Given the description of an element on the screen output the (x, y) to click on. 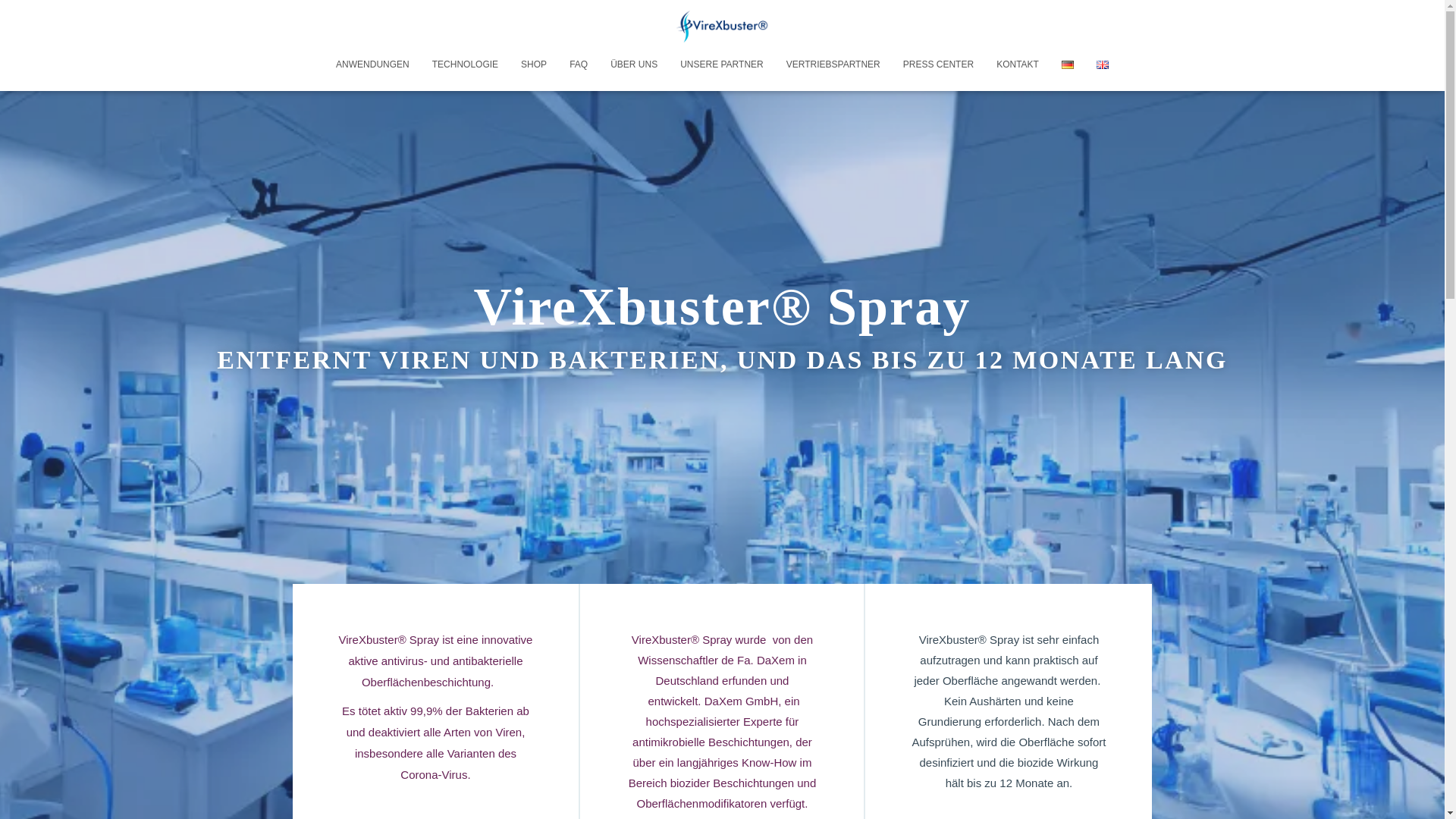
Kontakt (1017, 64)
Vertriebspartner (832, 64)
FAQ (577, 64)
KONTAKT (1017, 64)
Press Center (938, 64)
UNSERE PARTNER (721, 64)
PRESS CENTER (938, 64)
Technologie (464, 64)
Unsere Partner (721, 64)
TECHNOLOGIE (464, 64)
Anwendungen (372, 64)
Shop (533, 64)
VireXbuster (722, 26)
VERTRIEBSPARTNER (832, 64)
FAQ (577, 64)
